Given the description of an element on the screen output the (x, y) to click on. 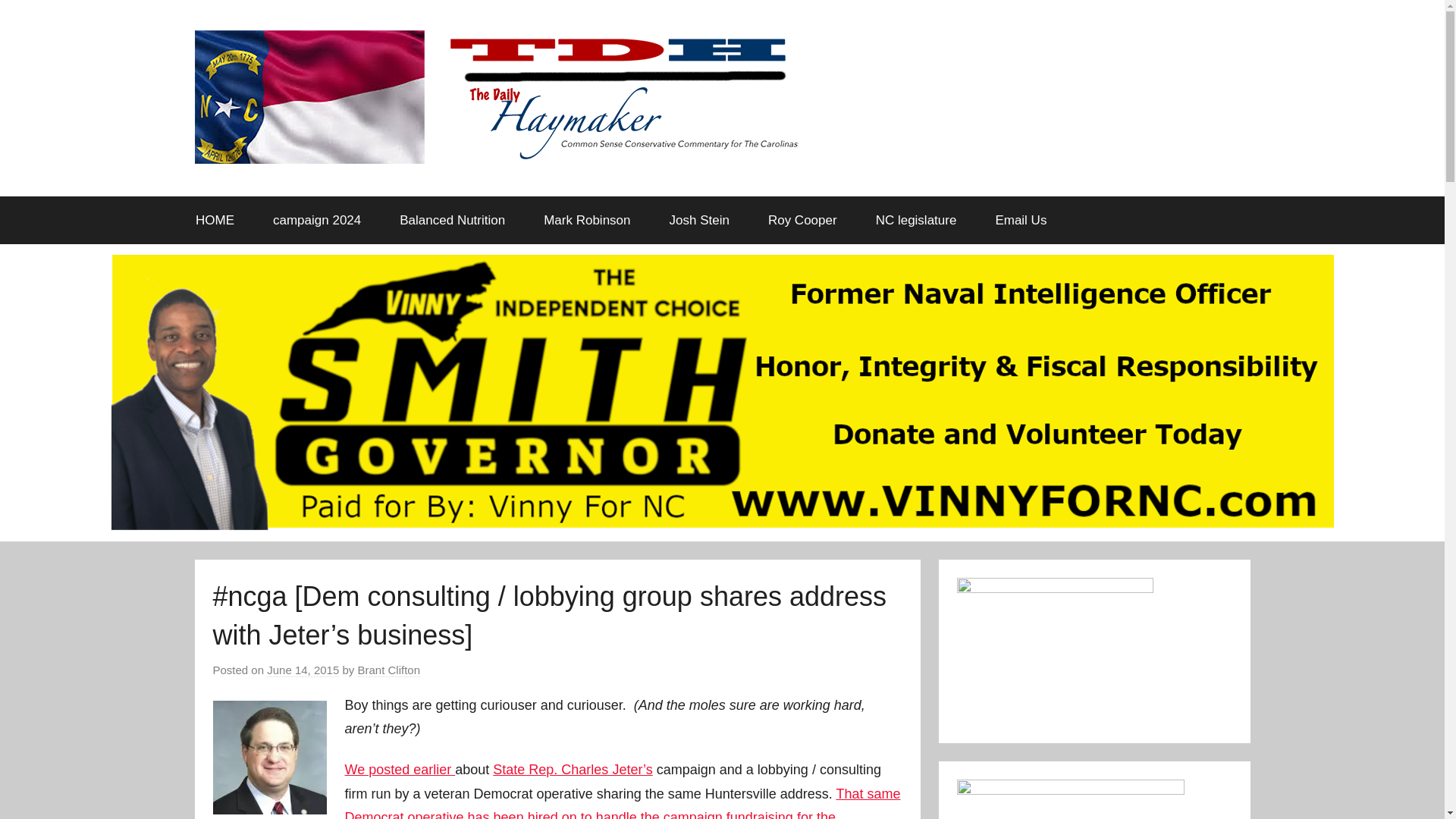
Balanced Nutrition (452, 219)
We posted earlier (398, 769)
NC legislature (915, 219)
Mark Robinson (586, 219)
campaign 2024 (316, 219)
Brant Clifton (389, 670)
HOME (214, 219)
Roy Cooper (802, 219)
View all posts by Brant Clifton (389, 670)
